Given the description of an element on the screen output the (x, y) to click on. 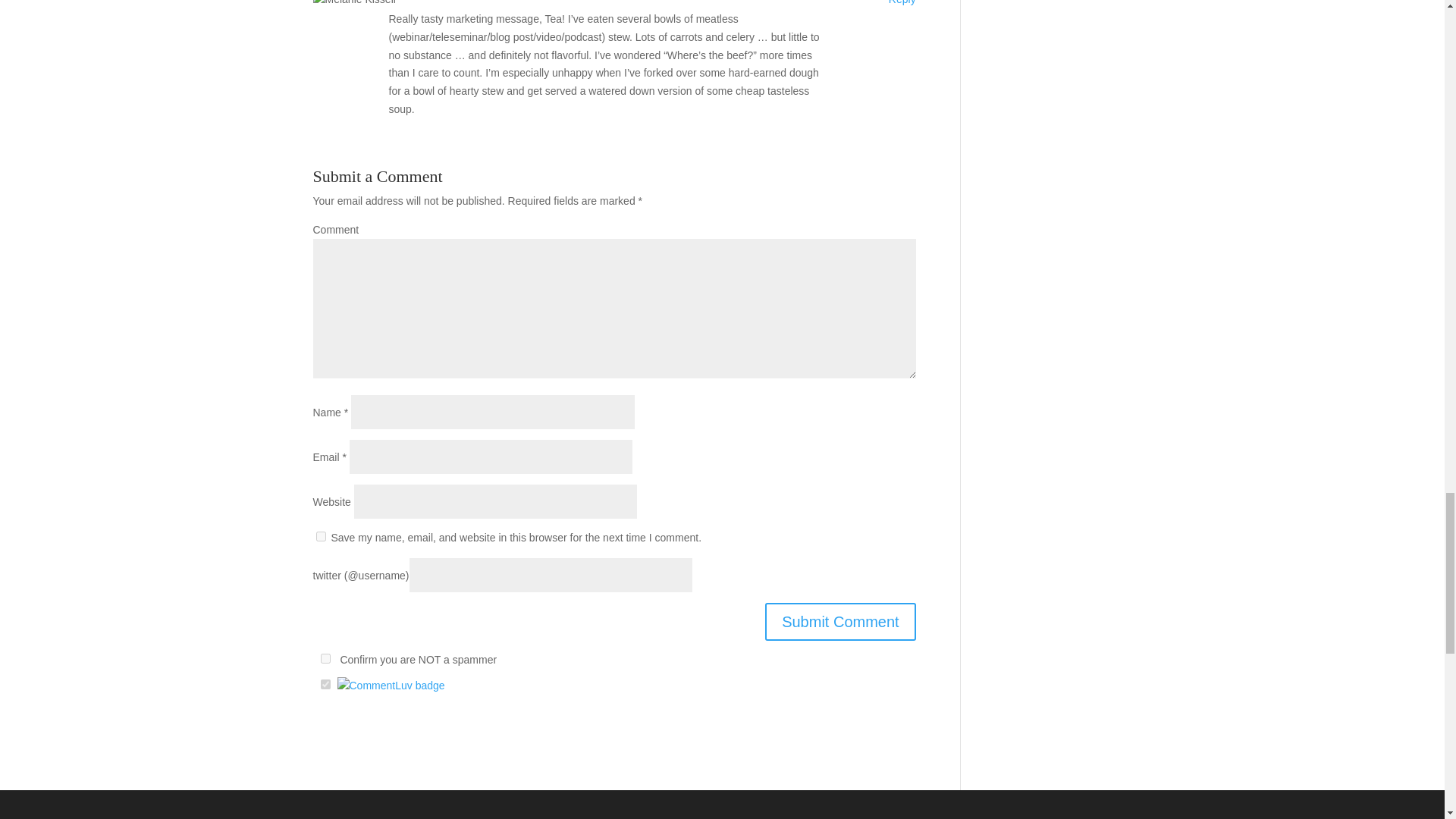
on (324, 658)
Submit Comment (840, 621)
yes (319, 536)
CommentLuv is enabled (390, 685)
on (324, 684)
